Given the description of an element on the screen output the (x, y) to click on. 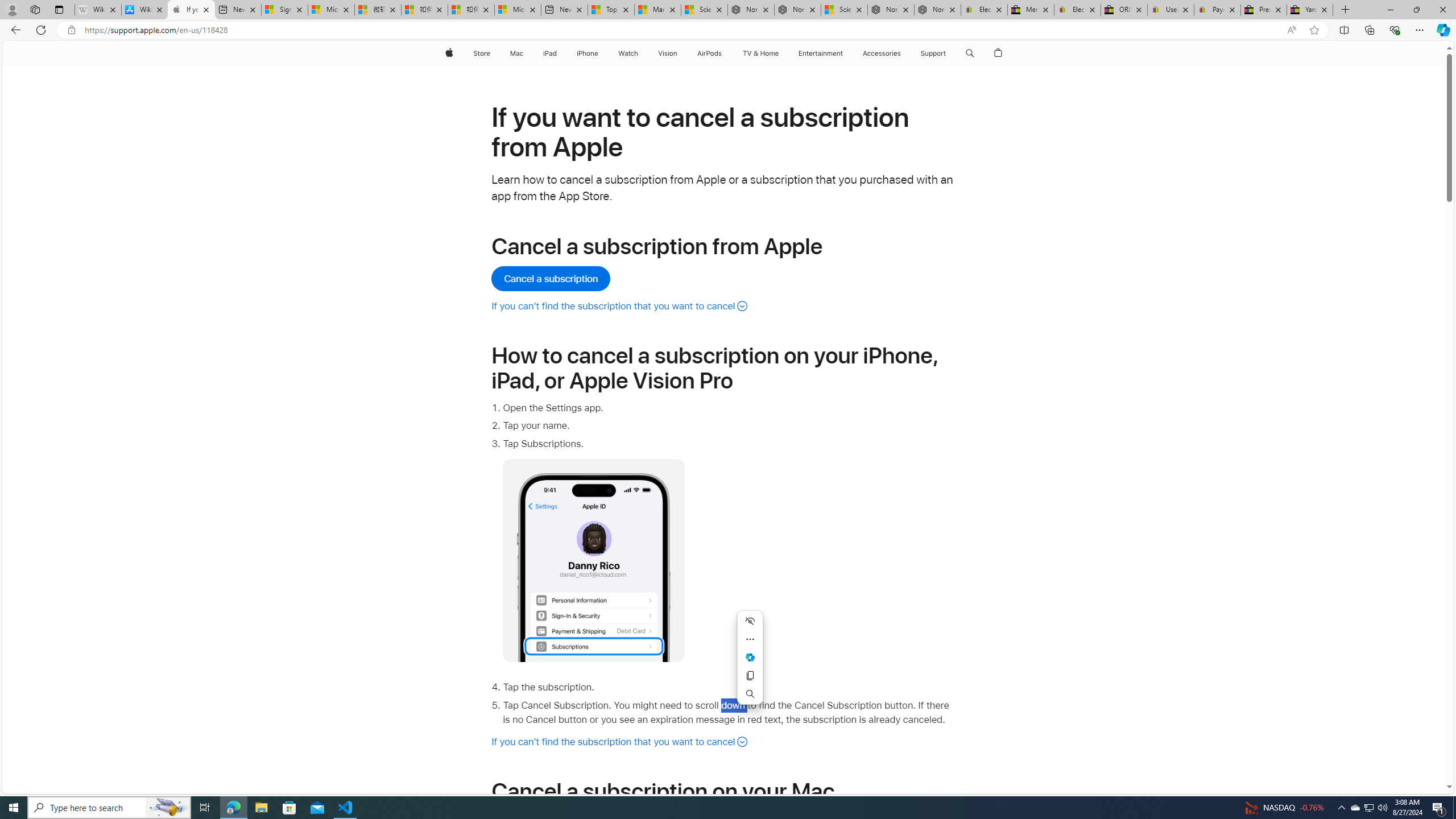
Search Support (969, 53)
Entertainment menu (844, 53)
Apple (448, 53)
Tab actions menu (58, 9)
AutomationID: globalnav-bag (998, 53)
Tap the subscription. (729, 687)
Support (932, 53)
Close (1442, 9)
Class: globalnav-item globalnav-search shift-0-1 (969, 53)
Top Stories - MSN (610, 9)
iPad menu (557, 53)
Watch menu (640, 53)
Copy (750, 675)
Microsoft account | Account Checkup (517, 9)
Entertainment (820, 53)
